Given the description of an element on the screen output the (x, y) to click on. 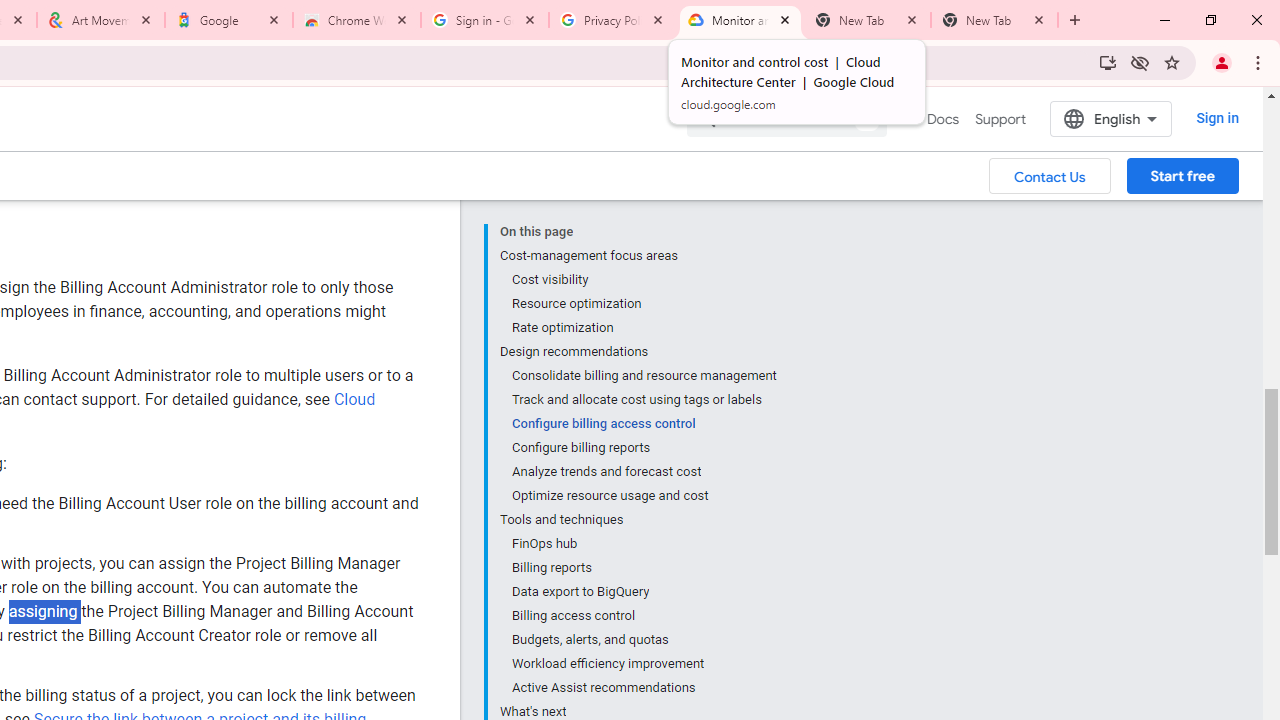
Cost-management focus areas (637, 255)
Analyze trends and forecast cost (643, 471)
Billing reports (643, 567)
English (1110, 118)
FinOps hub (643, 543)
Active Assist recommendations (643, 687)
Cost visibility (643, 279)
Budgets, alerts, and quotas (643, 639)
Consolidate billing and resource management (643, 376)
Sign in - Google Accounts (485, 20)
Start free (1182, 175)
Contact Us (1050, 175)
